Given the description of an element on the screen output the (x, y) to click on. 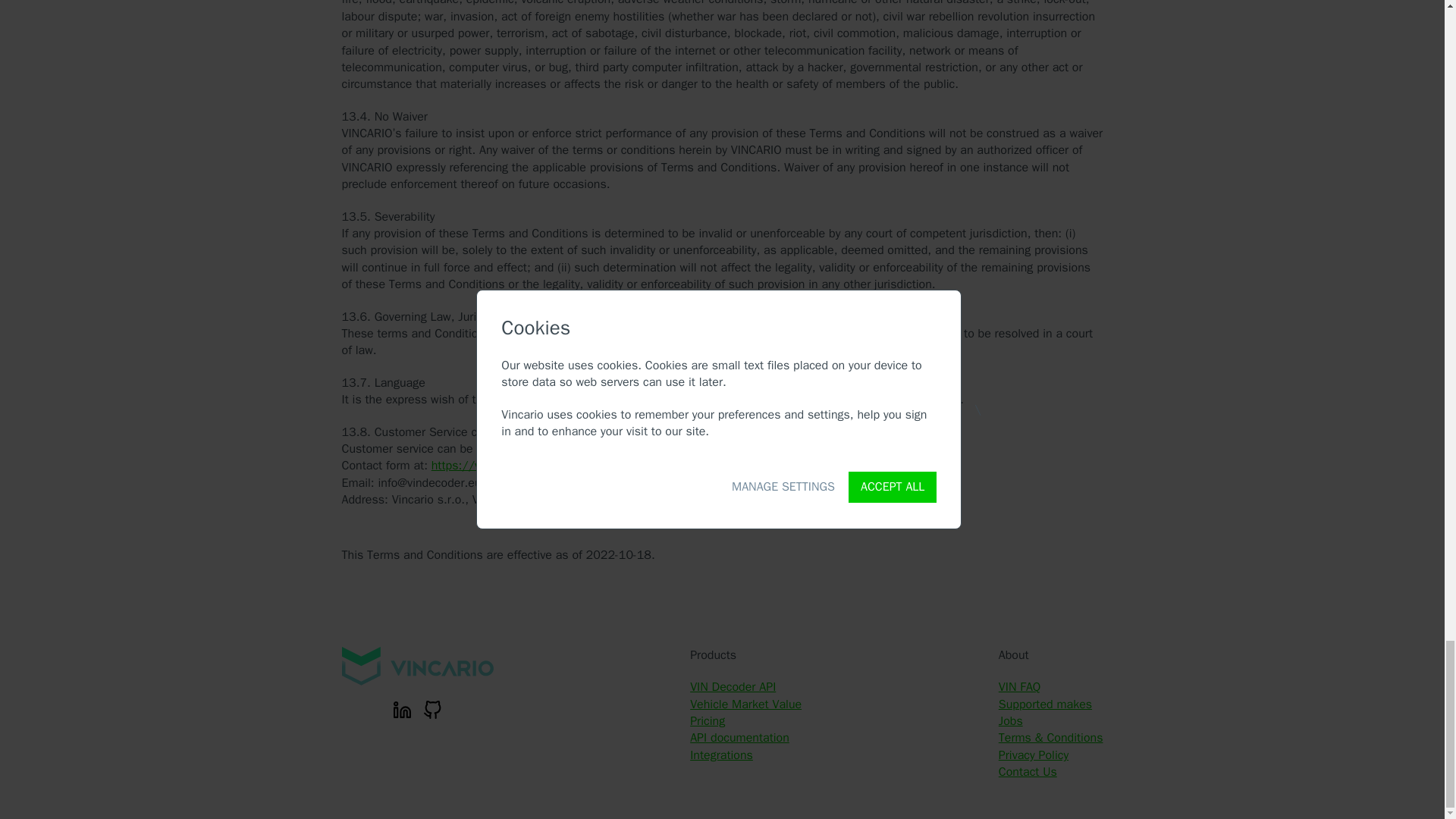
VIN Decoder API (733, 686)
Jobs (1010, 720)
Privacy Policy (1033, 754)
Contact Us (1027, 771)
Pricing (707, 720)
API documentation (739, 737)
Integrations (721, 754)
VIN FAQ (1019, 686)
Vehicle Market Value (746, 703)
Supported makes (1045, 703)
